Given the description of an element on the screen output the (x, y) to click on. 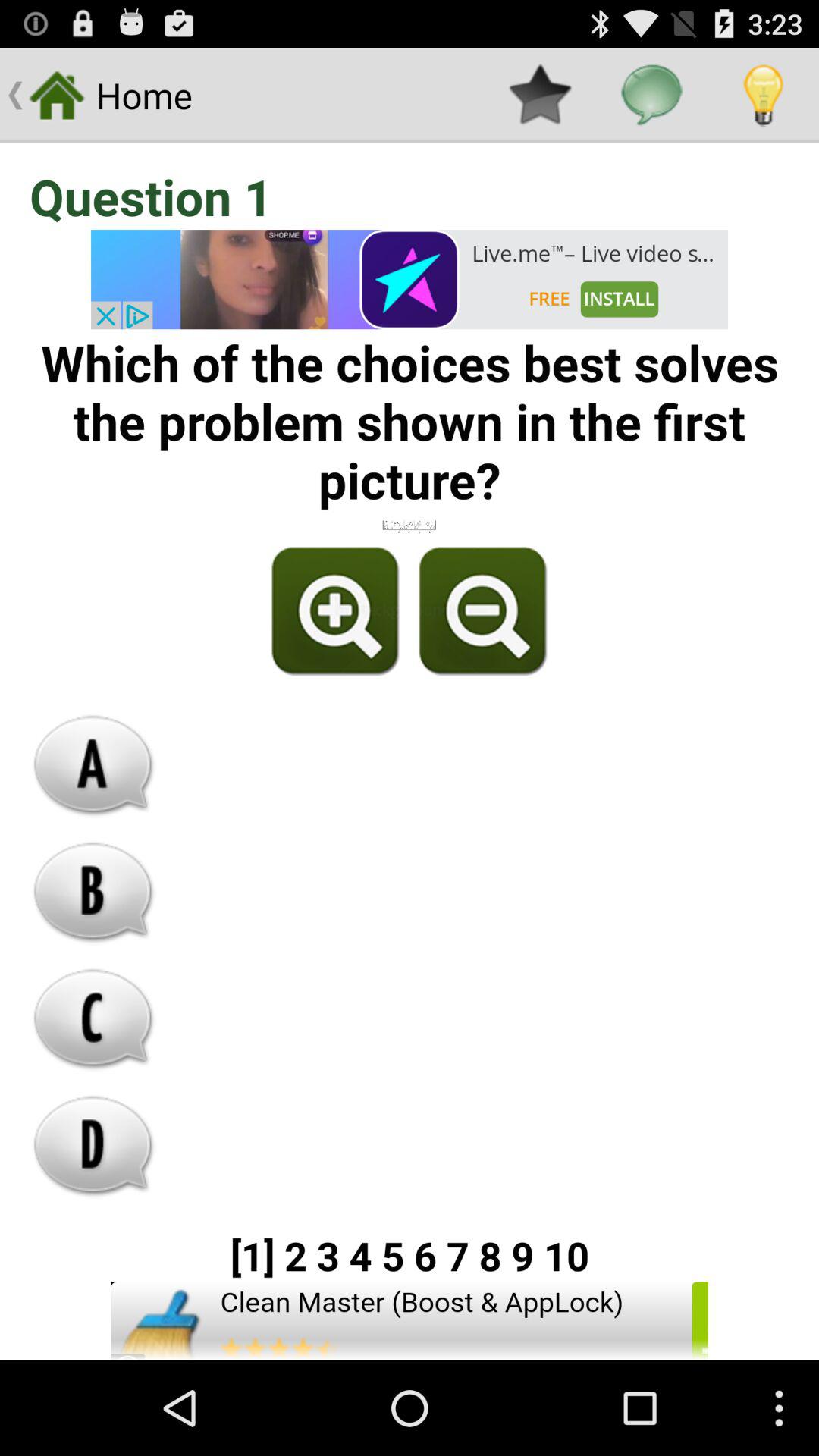
advertisement (409, 1320)
